Given the description of an element on the screen output the (x, y) to click on. 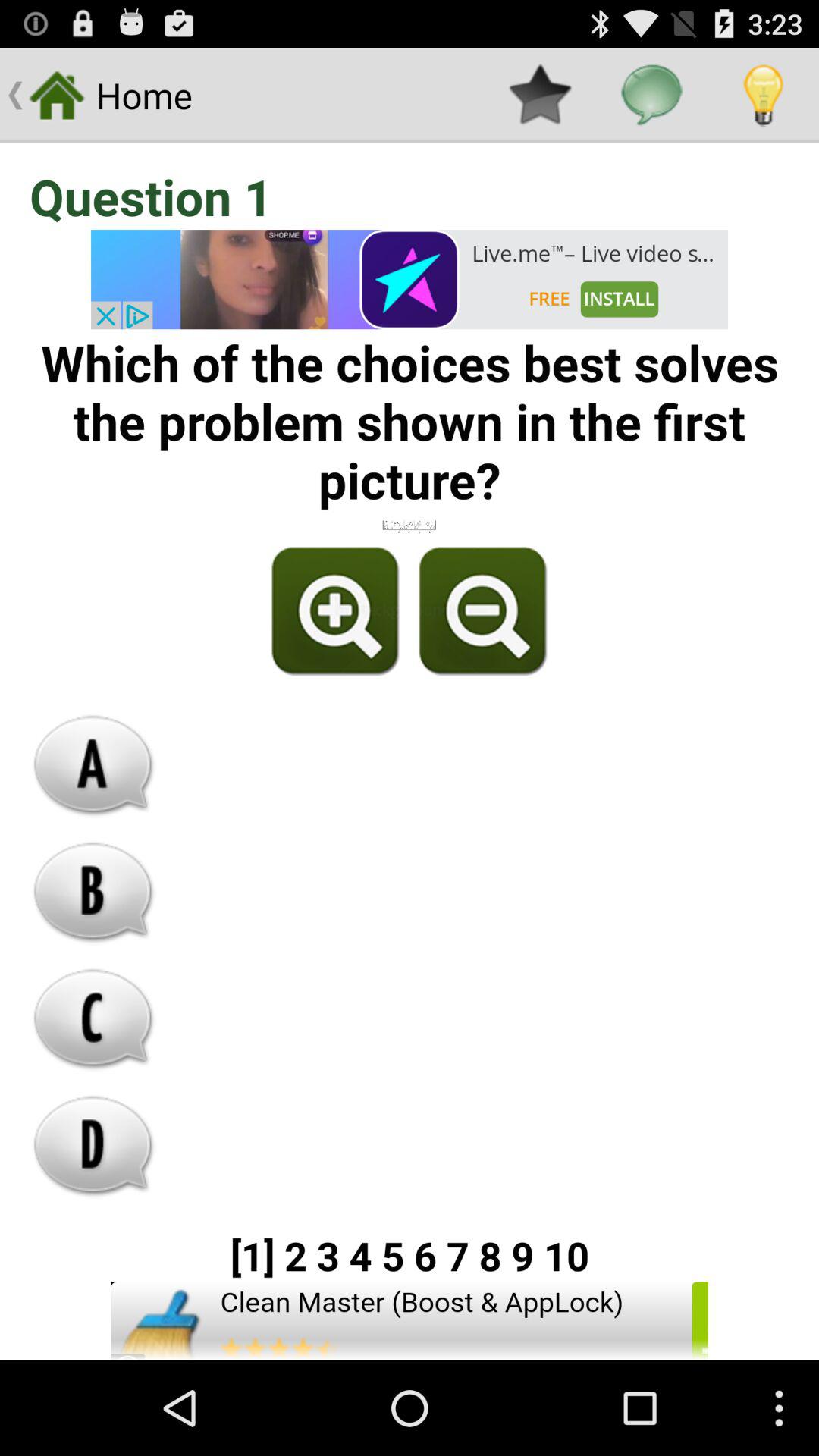
advertisement (409, 1320)
